Given the description of an element on the screen output the (x, y) to click on. 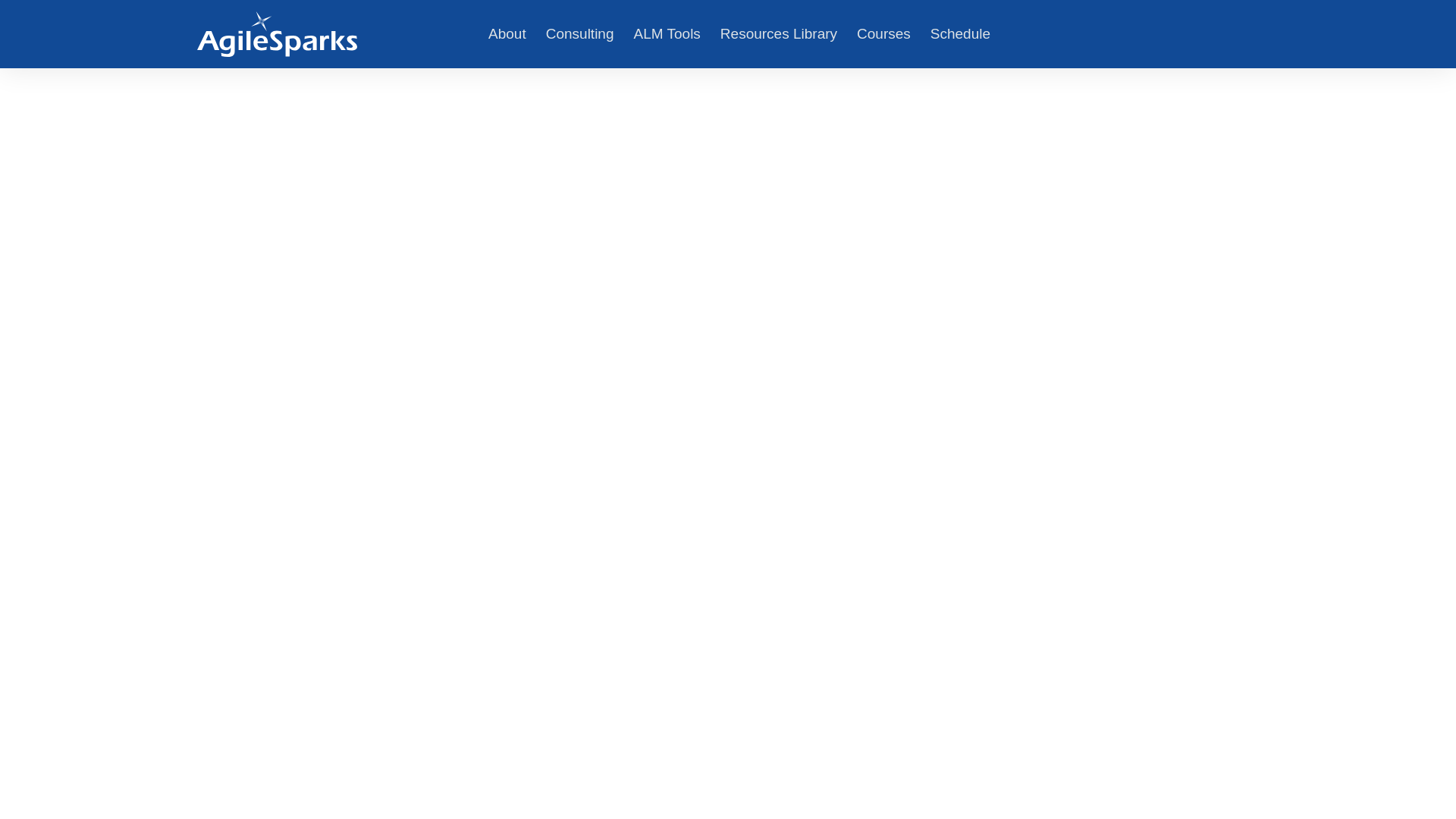
Consulting (580, 34)
ALM Tools (666, 34)
Resources Library (778, 34)
Courses (883, 34)
About (506, 34)
